Given the description of an element on the screen output the (x, y) to click on. 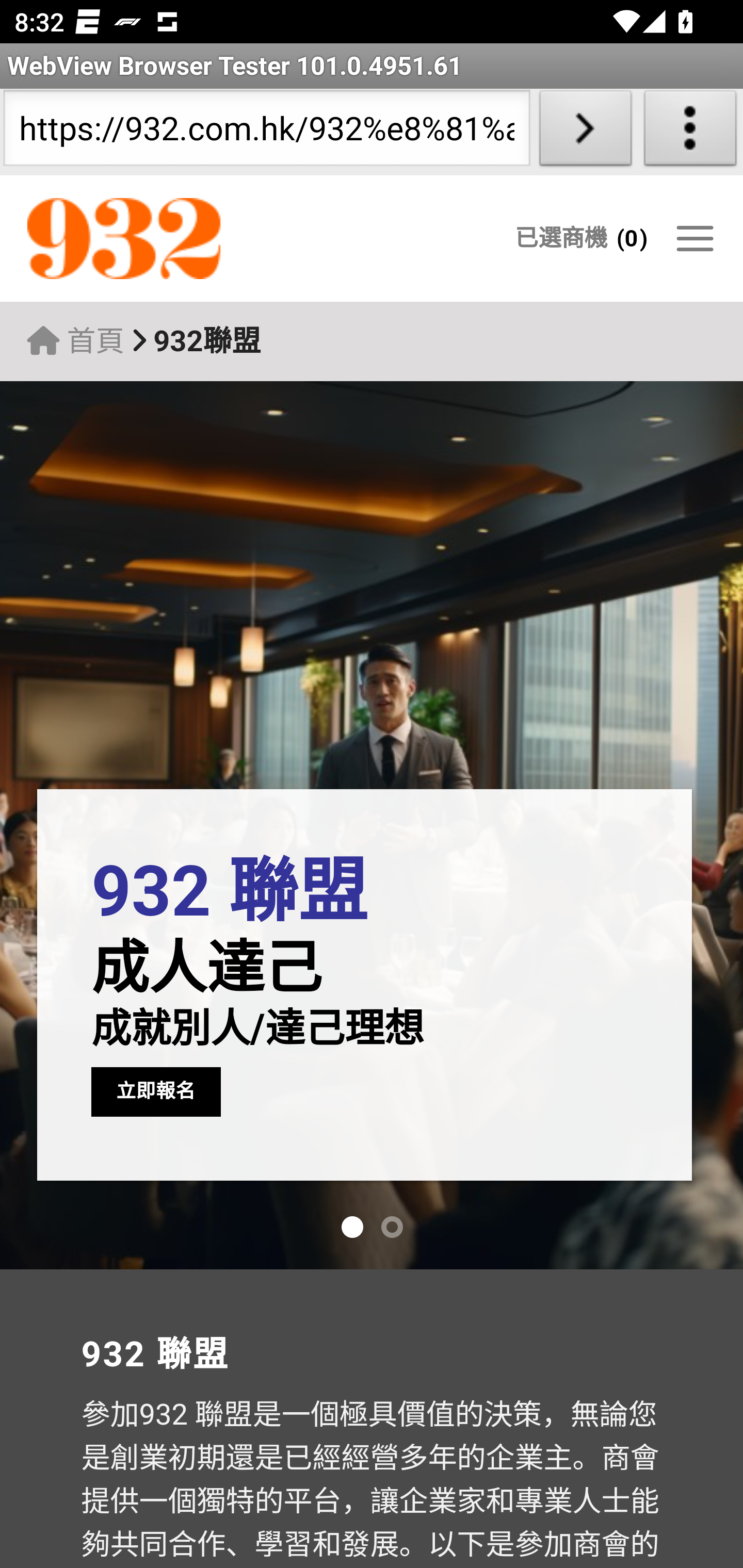
https://932.com.hk/932%e8%81%af%e7%9b%9f/ (266, 132)
Load URL (585, 132)
About WebView (690, 132)
已選商機 ( 0 ) 已選商機 ( 0 ) (580, 237)
Menu  (694, 237)
932香港生意轉讓平台 (207, 238)
 首頁   首頁 (75, 341)
立即報名 (156, 1090)
Page dot 1 Page dot 2 (371, 1227)
